Given the description of an element on the screen output the (x, y) to click on. 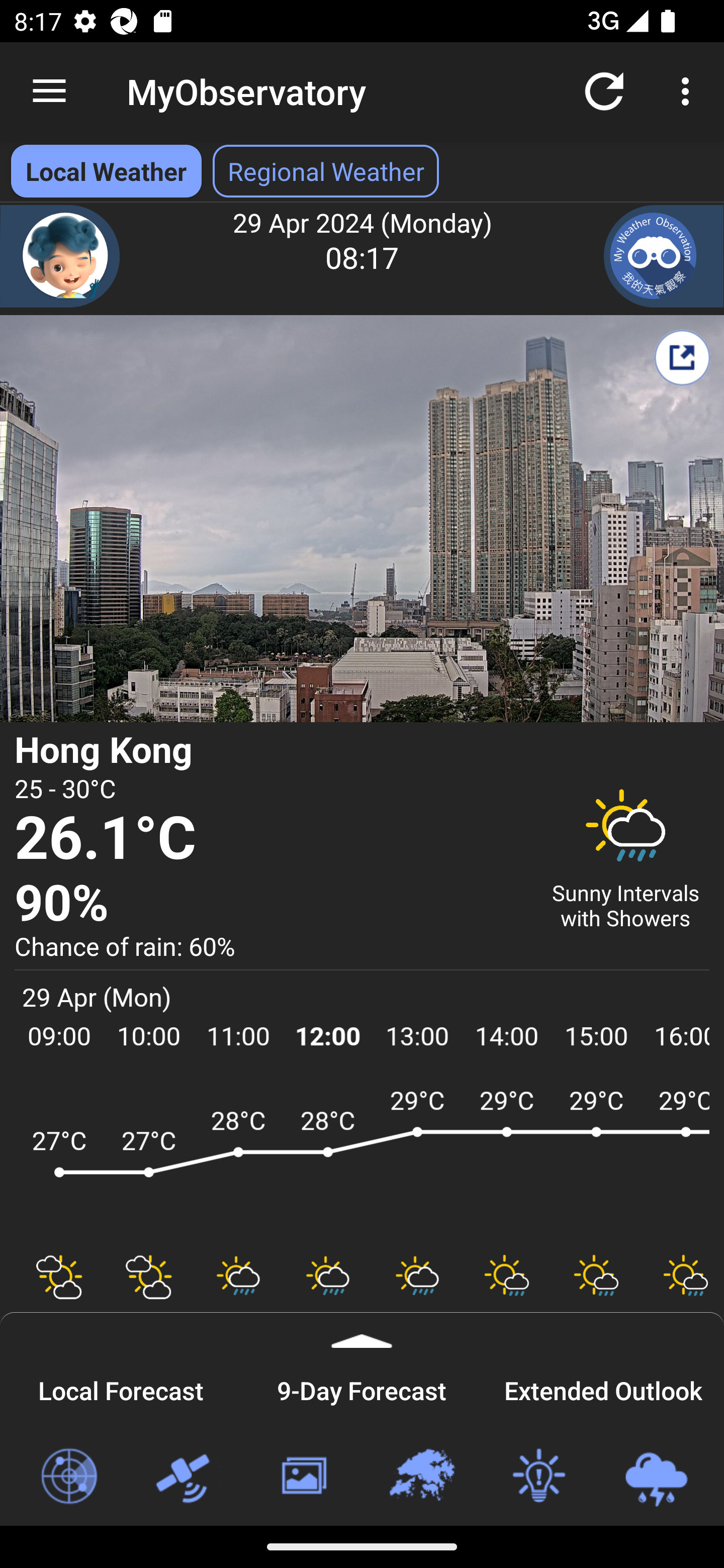
Navigate up (49, 91)
Refresh (604, 90)
More options (688, 90)
Local Weather Local Weather selected (105, 170)
Regional Weather Select Regional Weather (325, 170)
Chatbot (60, 256)
My Weather Observation (663, 256)
Share My Weather Report (681, 357)
26.1°C Temperature
26.1 degree Celsius (270, 839)
90% Relative Humidity
90 percent (270, 903)
ARWF (361, 1160)
Expand (362, 1330)
Local Forecast (120, 1387)
Extended Outlook (603, 1387)
Radar Images (68, 1476)
Satellite Images (185, 1476)
Weather Photos (302, 1476)
Regional Weather (420, 1476)
Weather Tips (537, 1476)
Loc-based Rain & Lightning Forecast (655, 1476)
